Given the description of an element on the screen output the (x, y) to click on. 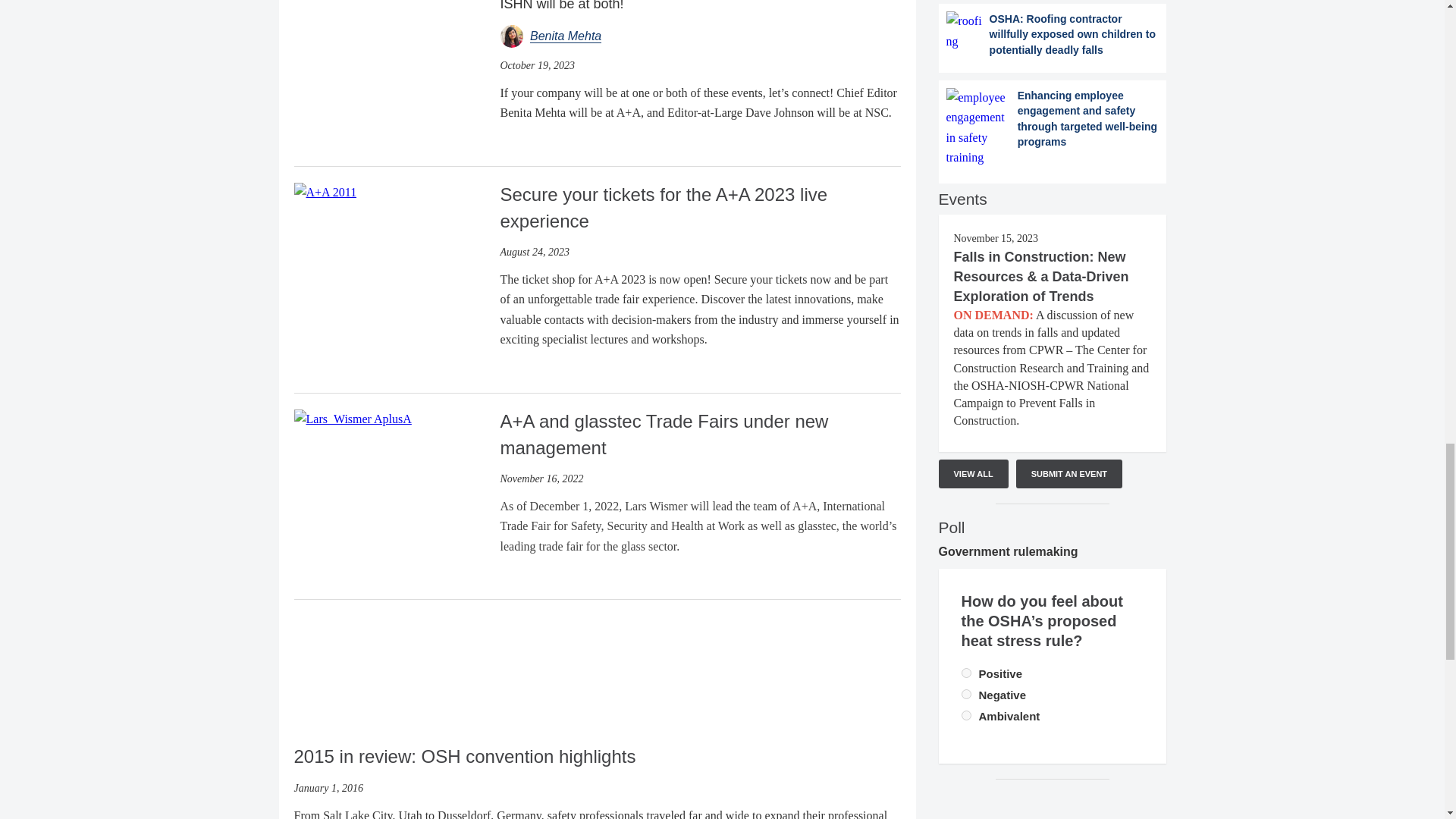
142 (965, 673)
AplusA11-422.jpg (325, 192)
144 (965, 715)
143 (965, 694)
